Given the description of an element on the screen output the (x, y) to click on. 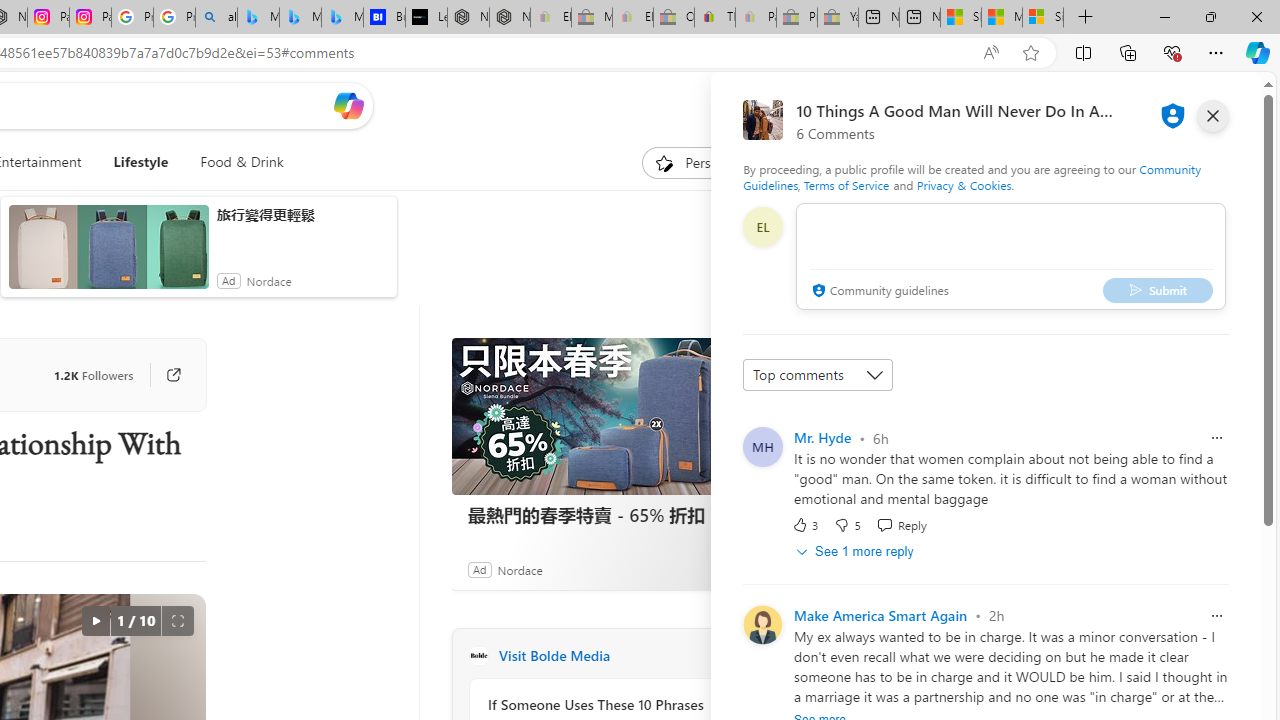
Visit Bolde Media website (726, 655)
Notifications (1176, 105)
Open settings (1216, 105)
Lifestyle (140, 162)
Microsoft Start (1001, 17)
To get missing image descriptions, open the context menu. (664, 162)
New tab (919, 17)
Food & Drink (234, 162)
Open Copilot (347, 105)
Shanghai, China hourly forecast | Microsoft Weather (960, 17)
